Given the description of an element on the screen output the (x, y) to click on. 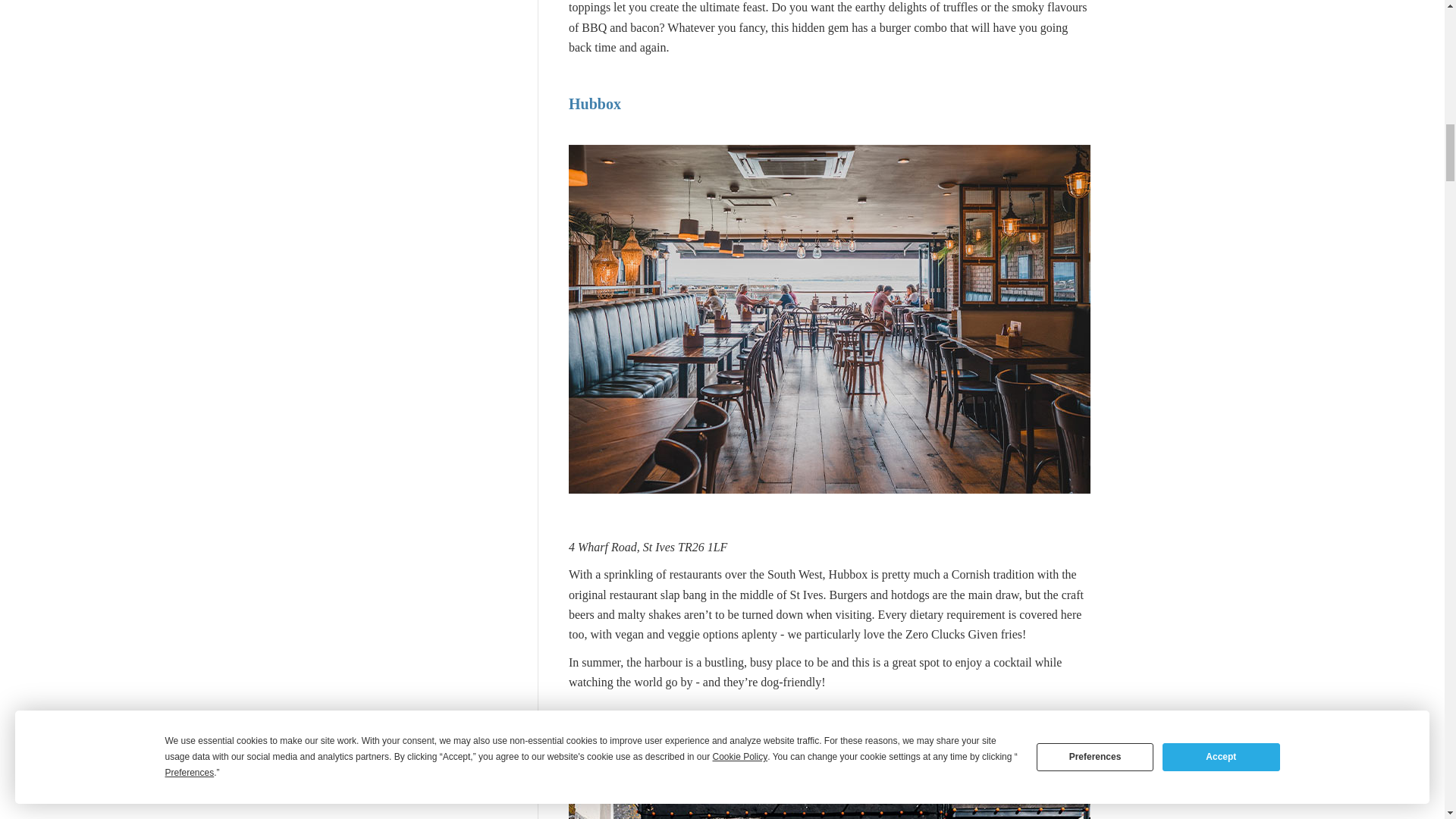
Image by The Rum and Crab Shack (829, 799)
